Given the description of an element on the screen output the (x, y) to click on. 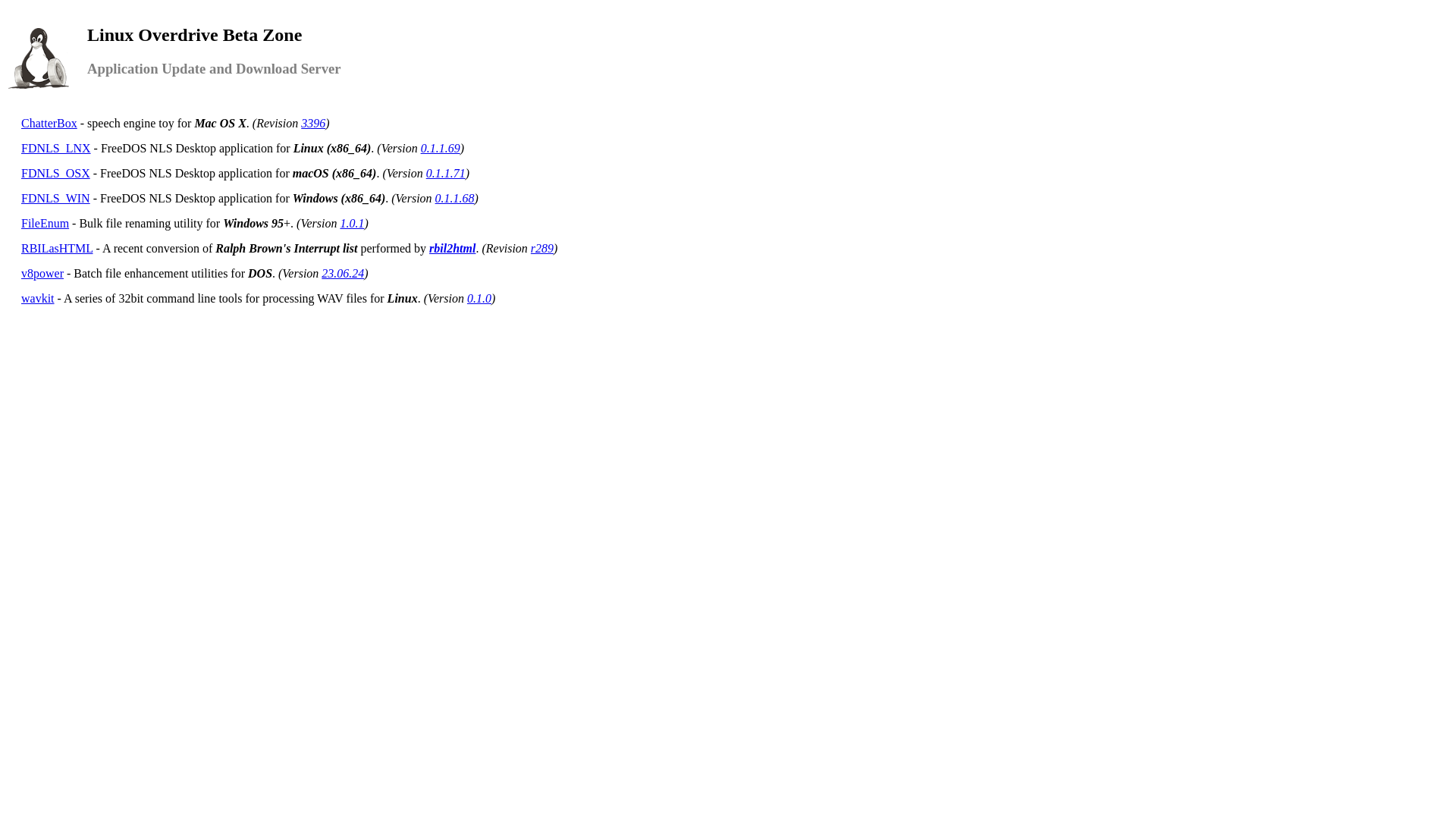
FDNLS_LNX Element type: text (56, 147)
23.06.24 Element type: text (342, 272)
rbil2html Element type: text (452, 247)
RBILasHTML Element type: text (57, 247)
0.1.1.68 Element type: text (454, 197)
0.1.1.71 Element type: text (445, 172)
wavkit Element type: text (37, 297)
FDNLS_OSX Element type: text (55, 172)
FileEnum Element type: text (45, 222)
0.1.1.69 Element type: text (440, 147)
1.0.1 Element type: text (351, 222)
v8power Element type: text (42, 272)
3396 Element type: text (313, 122)
r289 Element type: text (541, 247)
0.1.0 Element type: text (479, 297)
ChatterBox Element type: text (49, 122)
FDNLS_WIN Element type: text (55, 197)
